Given the description of an element on the screen output the (x, y) to click on. 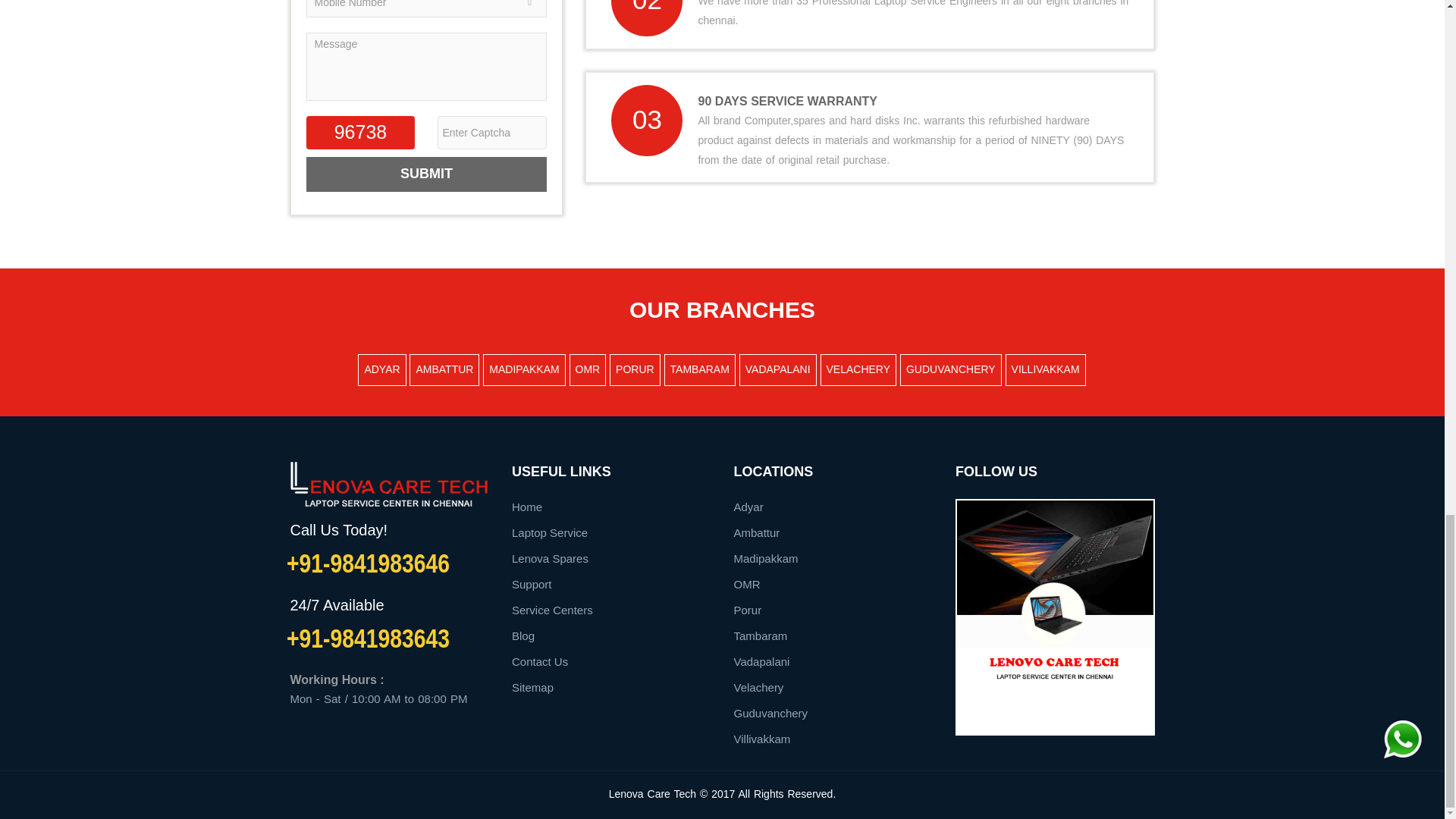
Authorized lenovo laptop service chennai (1054, 573)
Authorized lenovo laptop service chennai (387, 483)
Authorized lenovo laptop service chennai (1055, 663)
